Given the description of an element on the screen output the (x, y) to click on. 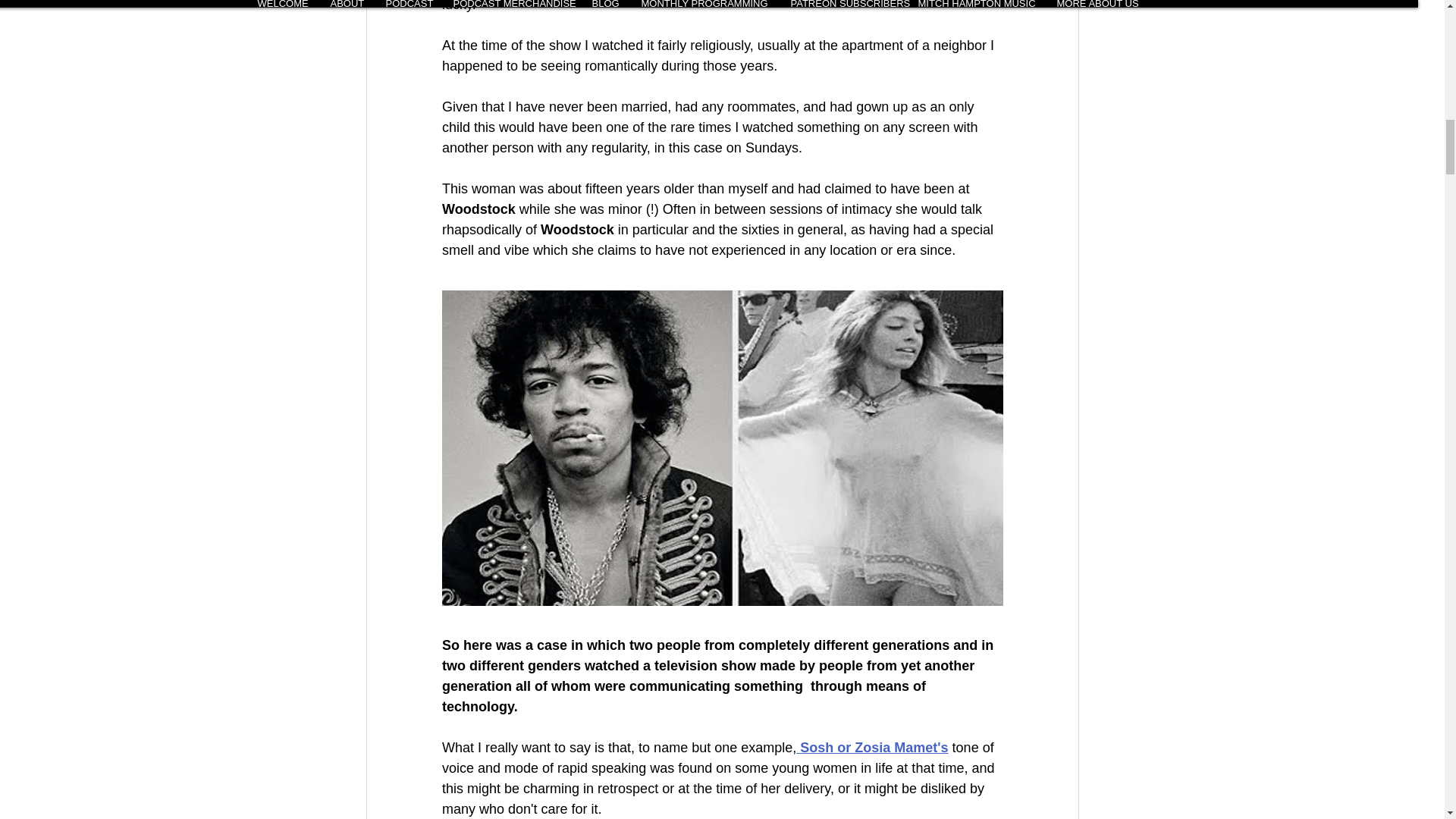
 Sosh or Zosia Mamet's (871, 747)
